Given the description of an element on the screen output the (x, y) to click on. 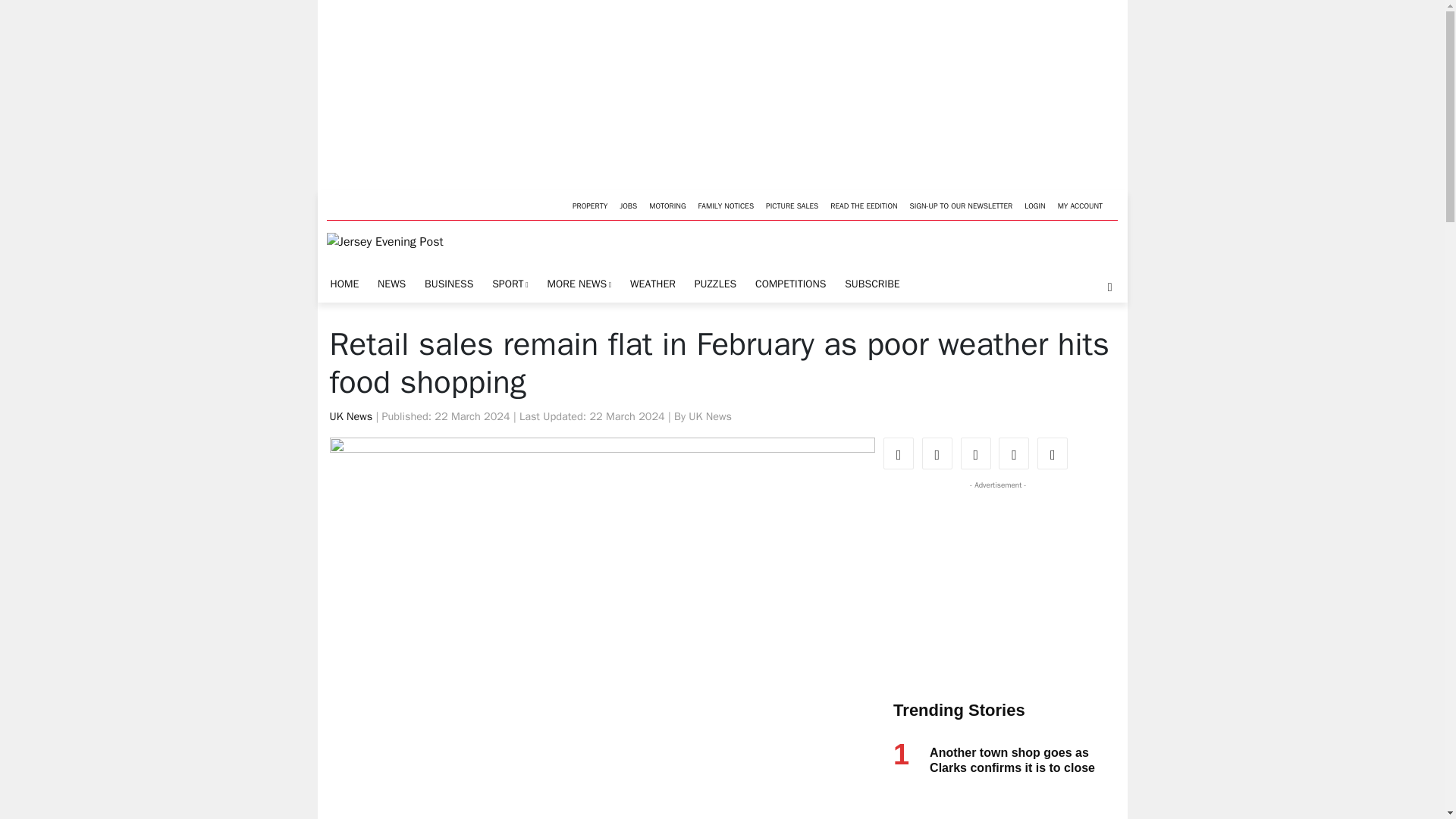
NEWS (391, 284)
3rd party ad content (994, 587)
BUSINESS (448, 284)
PUZZLES (714, 284)
SIGN-UP TO OUR NEWSLETTER (961, 205)
LOGIN (1034, 205)
SUBSCRIBE (871, 284)
COMPETITIONS (790, 284)
PROPERTY (589, 205)
MY ACCOUNT (1079, 205)
HOME (344, 284)
JOBS (627, 205)
MORE NEWS (579, 284)
MOTORING (667, 205)
